Given the description of an element on the screen output the (x, y) to click on. 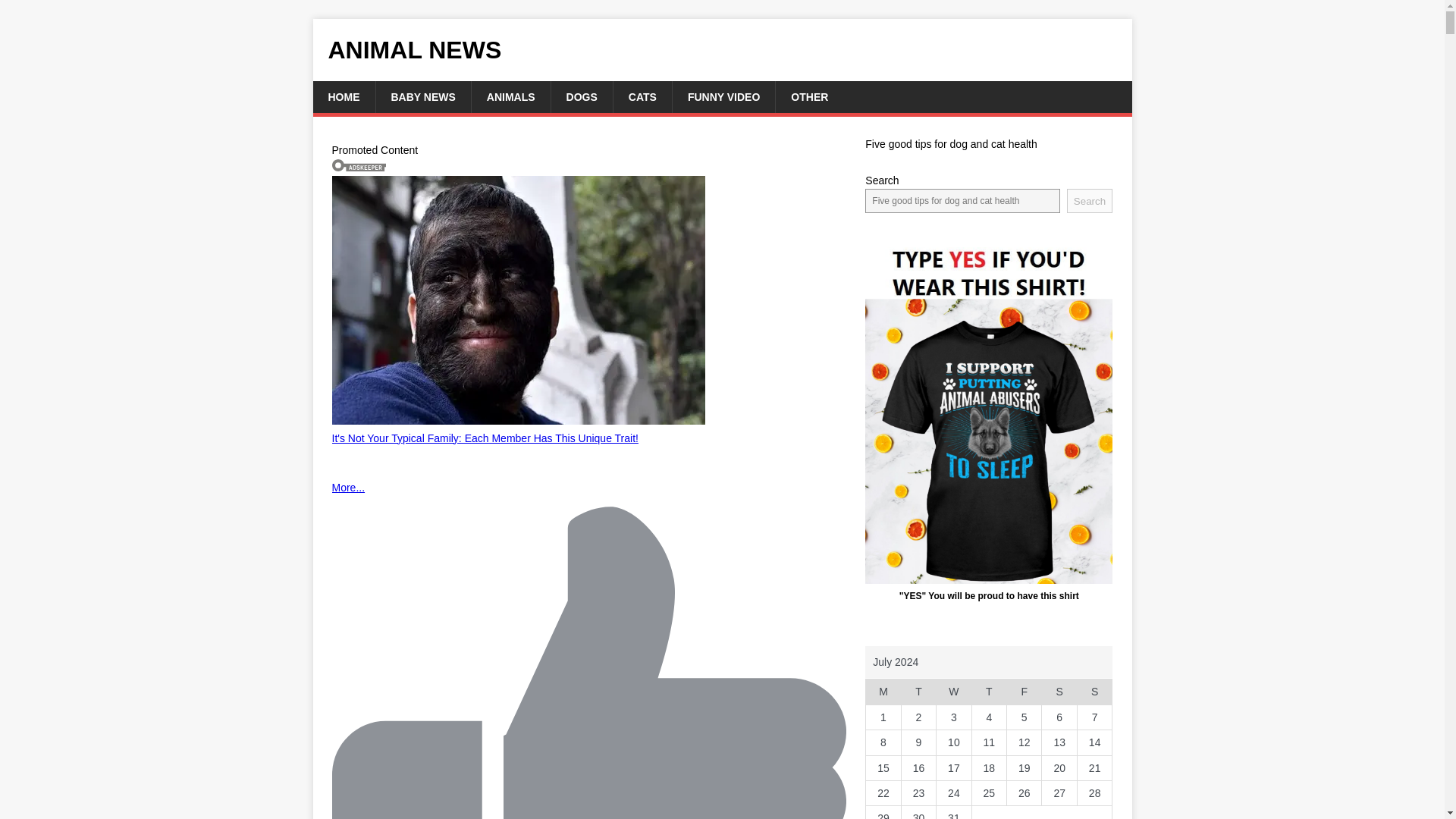
FUNNY VIDEO (722, 97)
BABY NEWS (422, 97)
DOGS (581, 97)
ANIMALS (510, 97)
ANIMAL NEWS (721, 49)
ANIMAL NEWS (721, 49)
OTHER (808, 97)
HOME (343, 97)
CATS (641, 97)
